Given the description of an element on the screen output the (x, y) to click on. 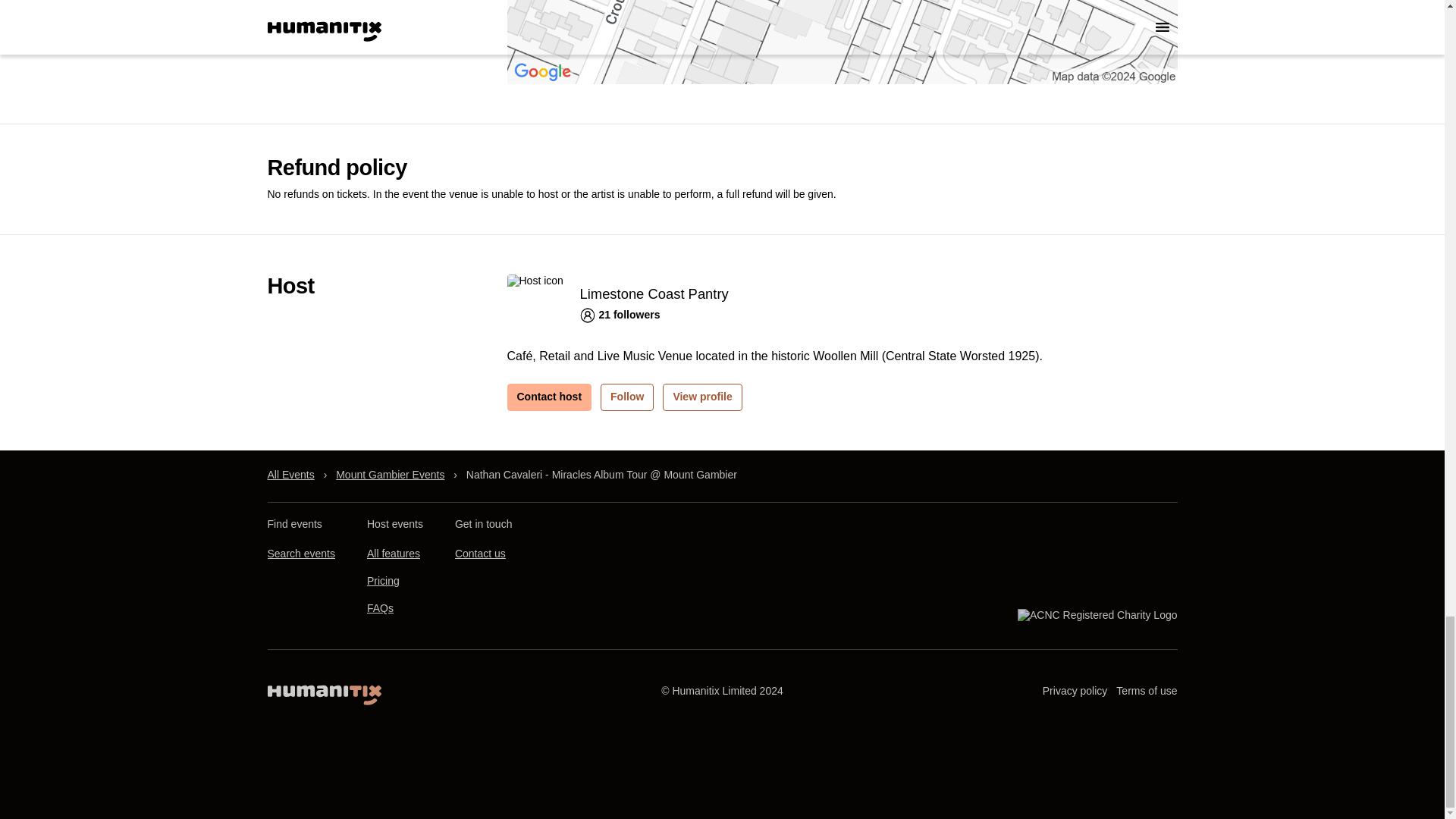
Follow (626, 396)
All features (393, 553)
Mount Gambier Events (390, 473)
View profile (701, 396)
Contact host (548, 396)
Search events (300, 553)
Pricing (382, 580)
All Events (290, 473)
